Given the description of an element on the screen output the (x, y) to click on. 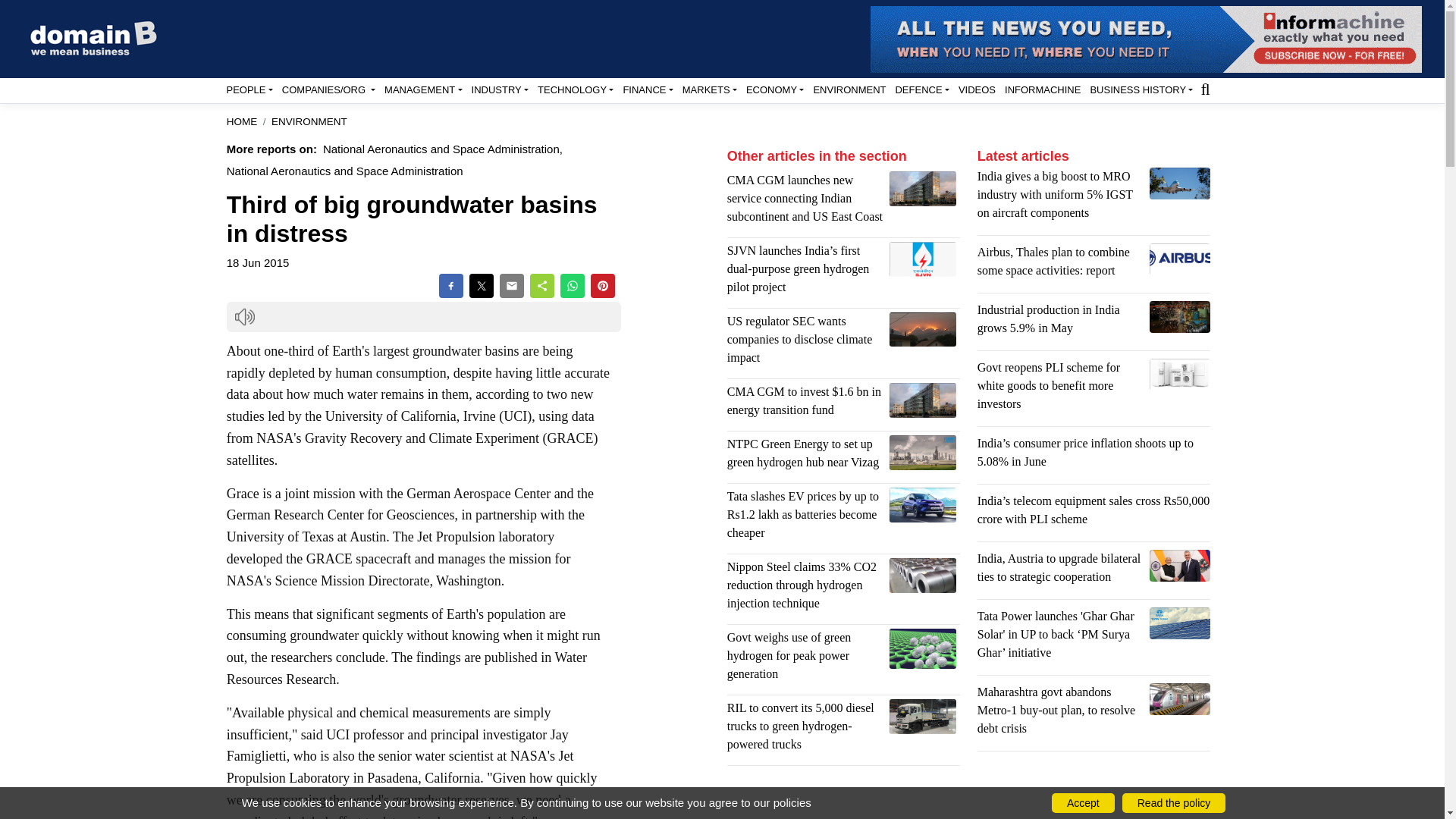
NTPC Green Energy to set up green hydrogen hub near Vizag (922, 452)
Click here to listen (244, 316)
PEOPLE (248, 89)
Open search box (1204, 87)
US regulator SEC wants companies to disclose climate impact (922, 328)
Govt weighs use of green hydrogen for peak power generation (922, 648)
Advertisement (843, 798)
